Given the description of an element on the screen output the (x, y) to click on. 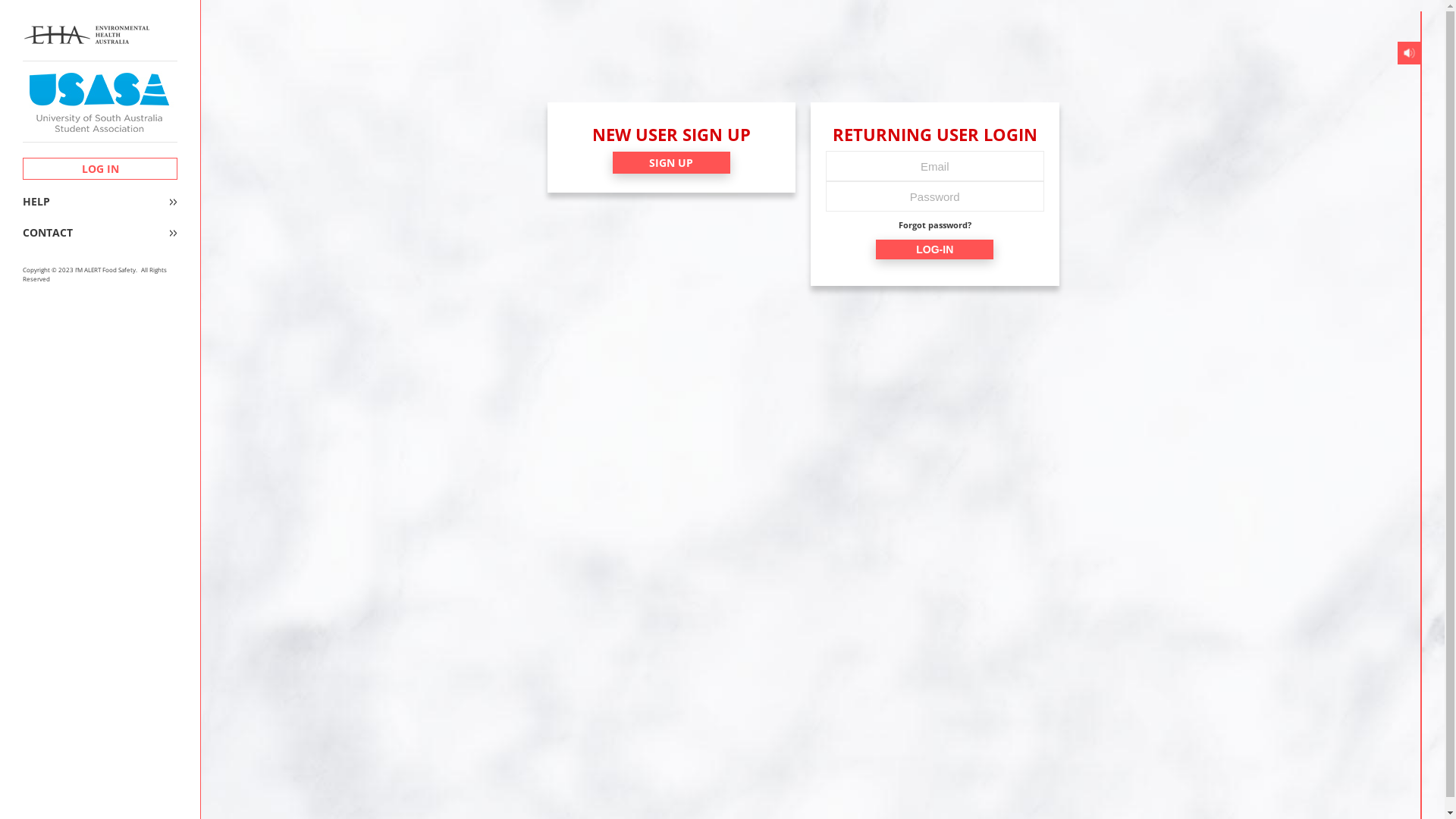
LOG IN Element type: text (99, 168)
SIGN UP Element type: text (671, 162)
Forgot password? Element type: text (934, 225)
CONTACT Element type: text (99, 232)
HELP Element type: text (99, 201)
LOG-IN Element type: text (934, 249)
